Given the description of an element on the screen output the (x, y) to click on. 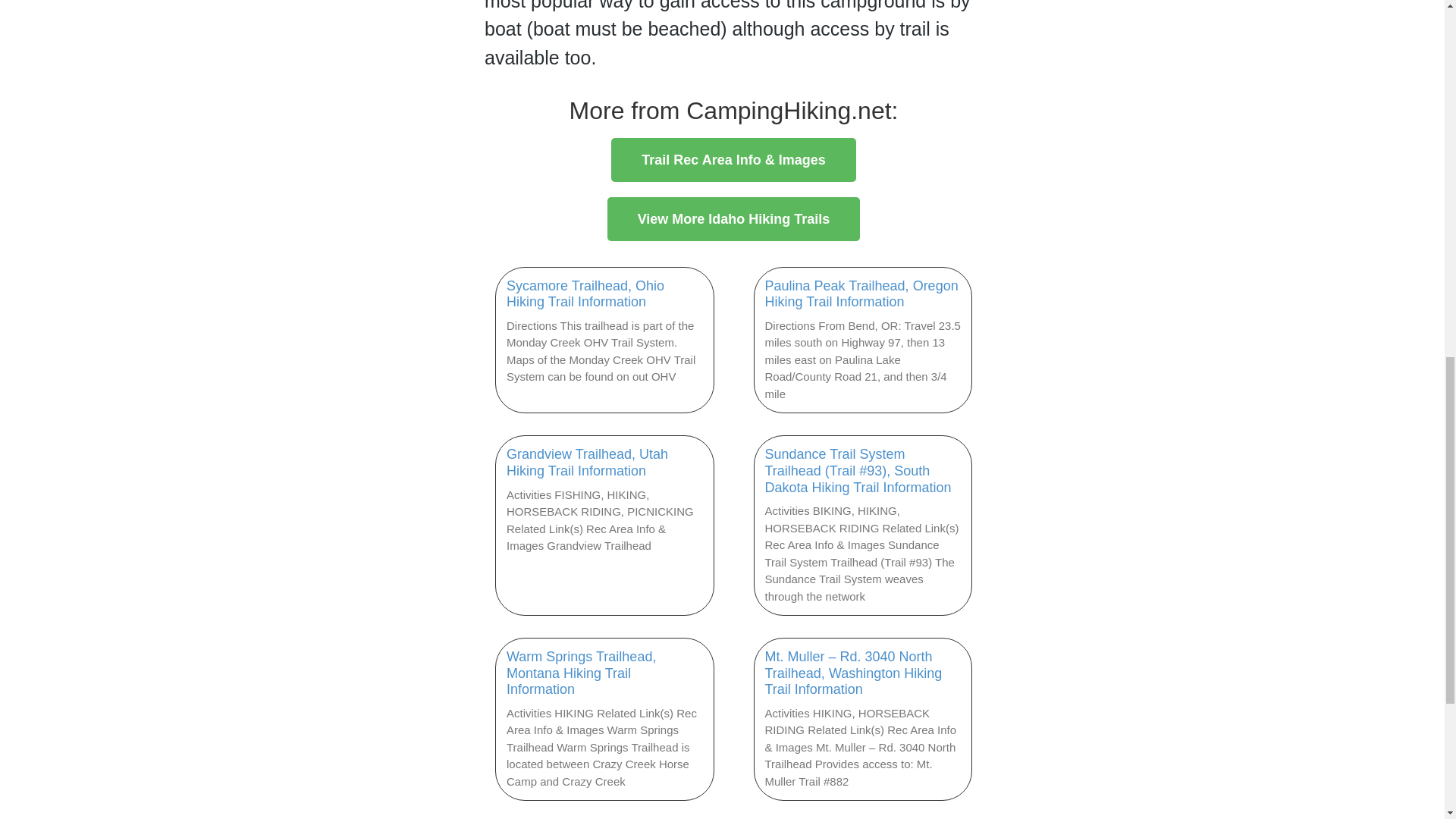
Sycamore Trailhead, Ohio Hiking Trail Information (584, 294)
Warm Springs Trailhead, Montana Hiking Trail Information (581, 672)
View More Idaho Hiking Trails (733, 218)
Paulina Peak Trailhead, Oregon Hiking Trail Information (861, 294)
Grandview Trailhead, Utah Hiking Trail Information (587, 462)
